Given the description of an element on the screen output the (x, y) to click on. 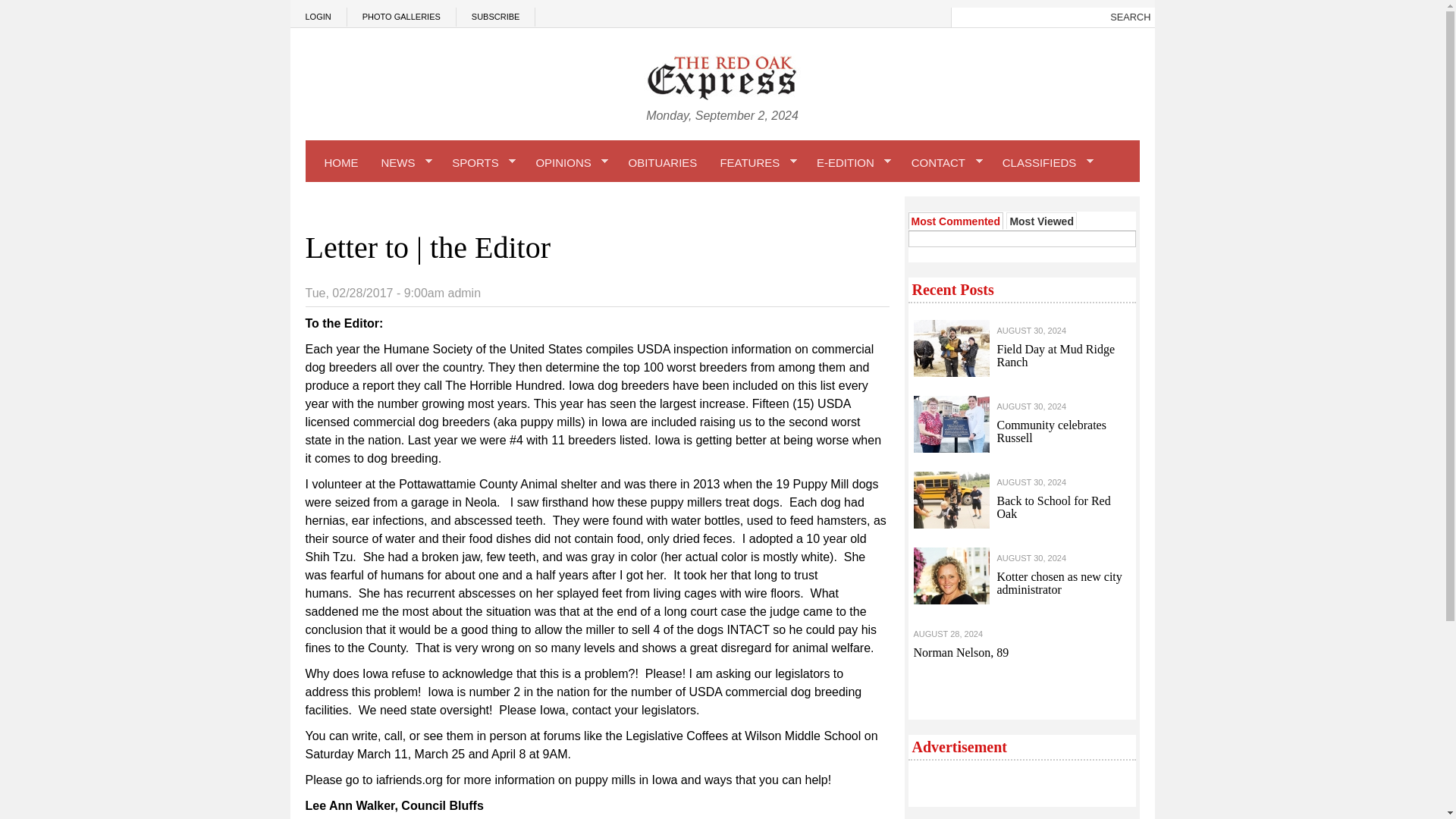
Sports (482, 162)
Search (1130, 17)
PHOTO GALLERIES (402, 16)
OBITUARIES (663, 162)
Features (756, 162)
HOME (341, 162)
SUBSCRIBE (496, 16)
Enter the terms you wish to search for. (1027, 17)
Obituaries (663, 162)
Opinions (569, 162)
